Given the description of an element on the screen output the (x, y) to click on. 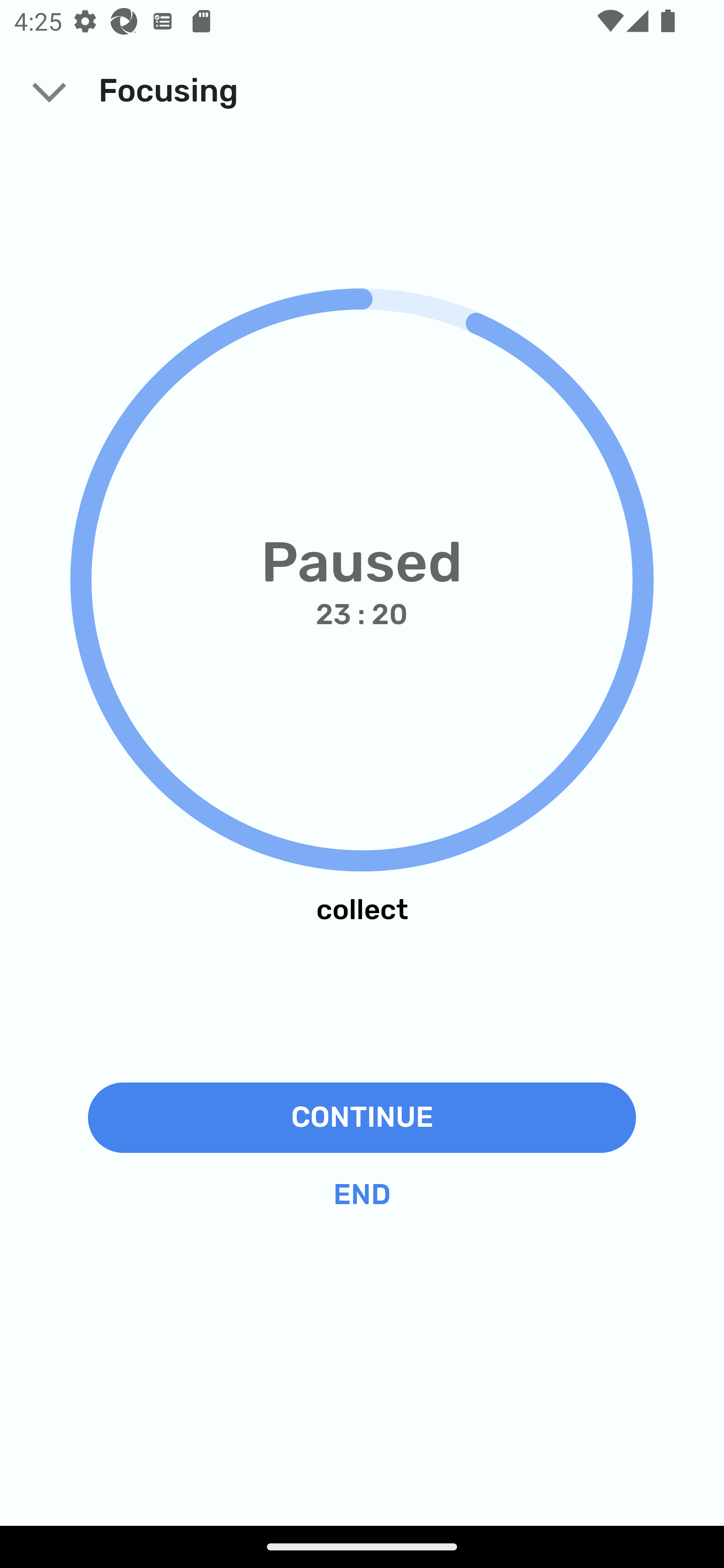
CONTINUE (361, 1116)
END (361, 1195)
